Given the description of an element on the screen output the (x, y) to click on. 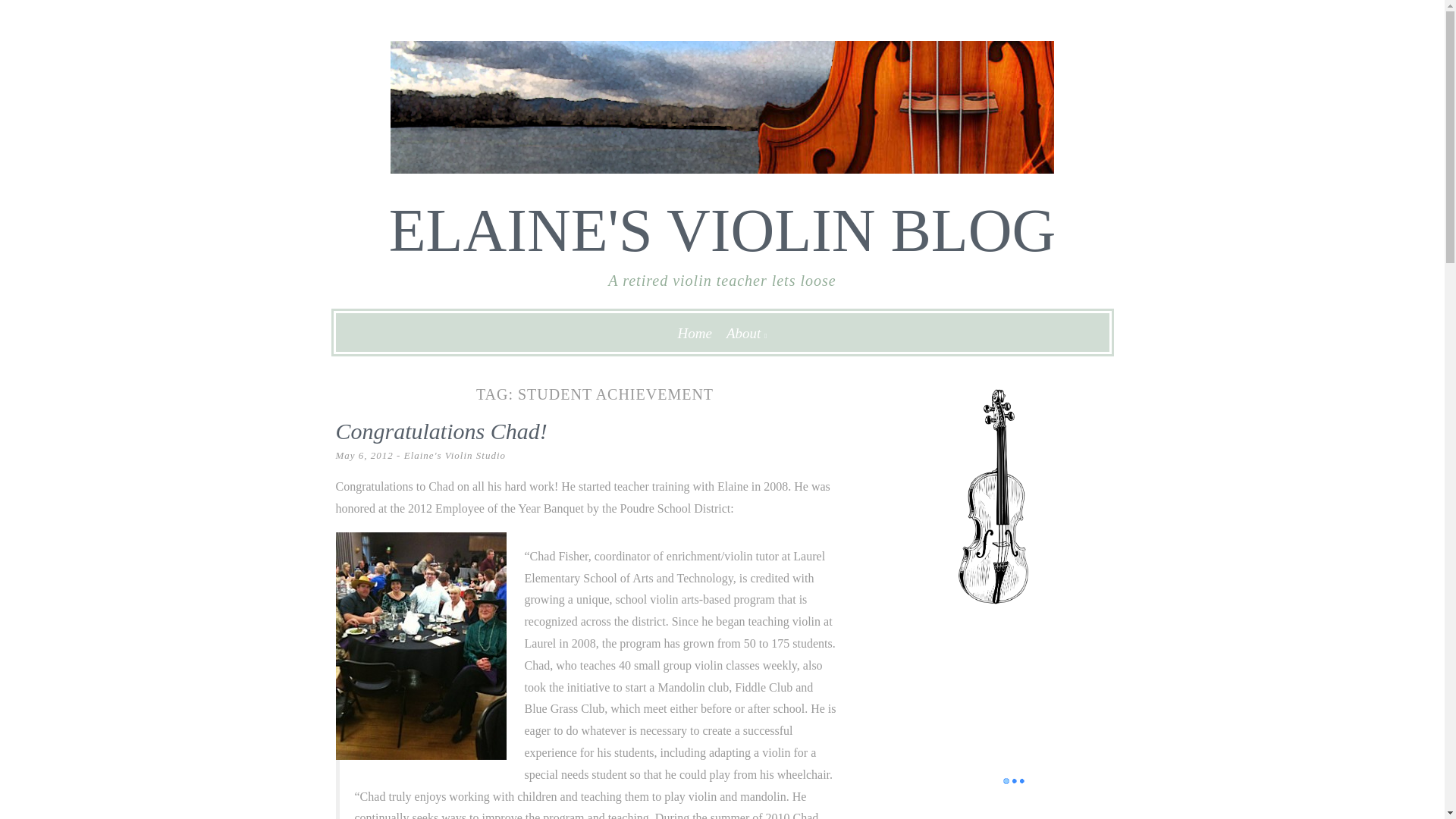
About (743, 333)
Elaine's Violin Studio (454, 455)
Congratulations Chad! (440, 430)
Search (29, 13)
ELAINE'S VIOLIN BLOG (722, 230)
May 6, 2012 (363, 455)
Home (694, 333)
